Given the description of an element on the screen output the (x, y) to click on. 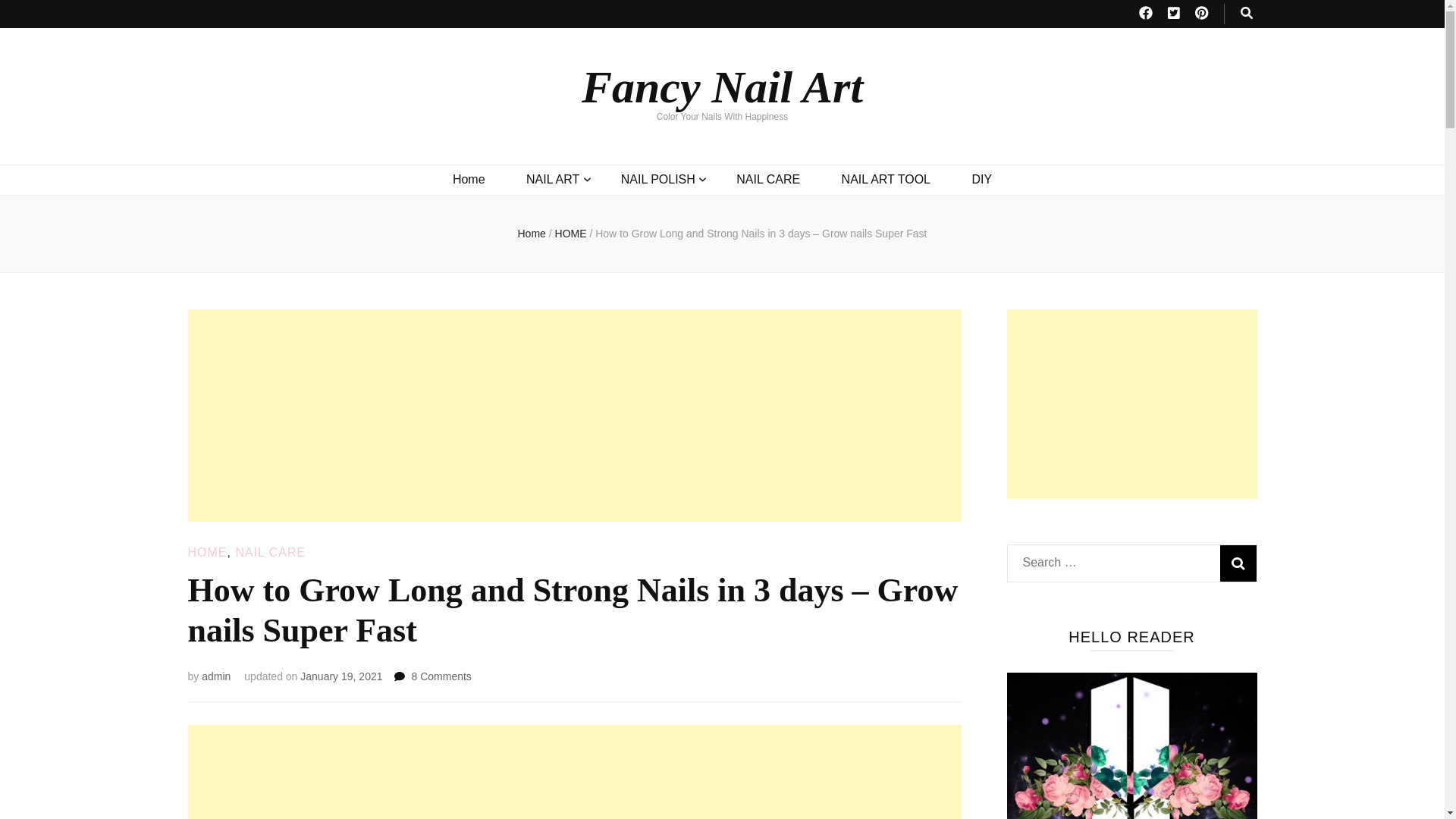
NAIL POLISH (658, 179)
HOME (207, 552)
January 19, 2021 (340, 676)
NAIL ART TOOL (885, 179)
Advertisement (1132, 403)
Home (530, 233)
admin (216, 676)
NAIL CARE (767, 179)
Home (468, 179)
